Given the description of an element on the screen output the (x, y) to click on. 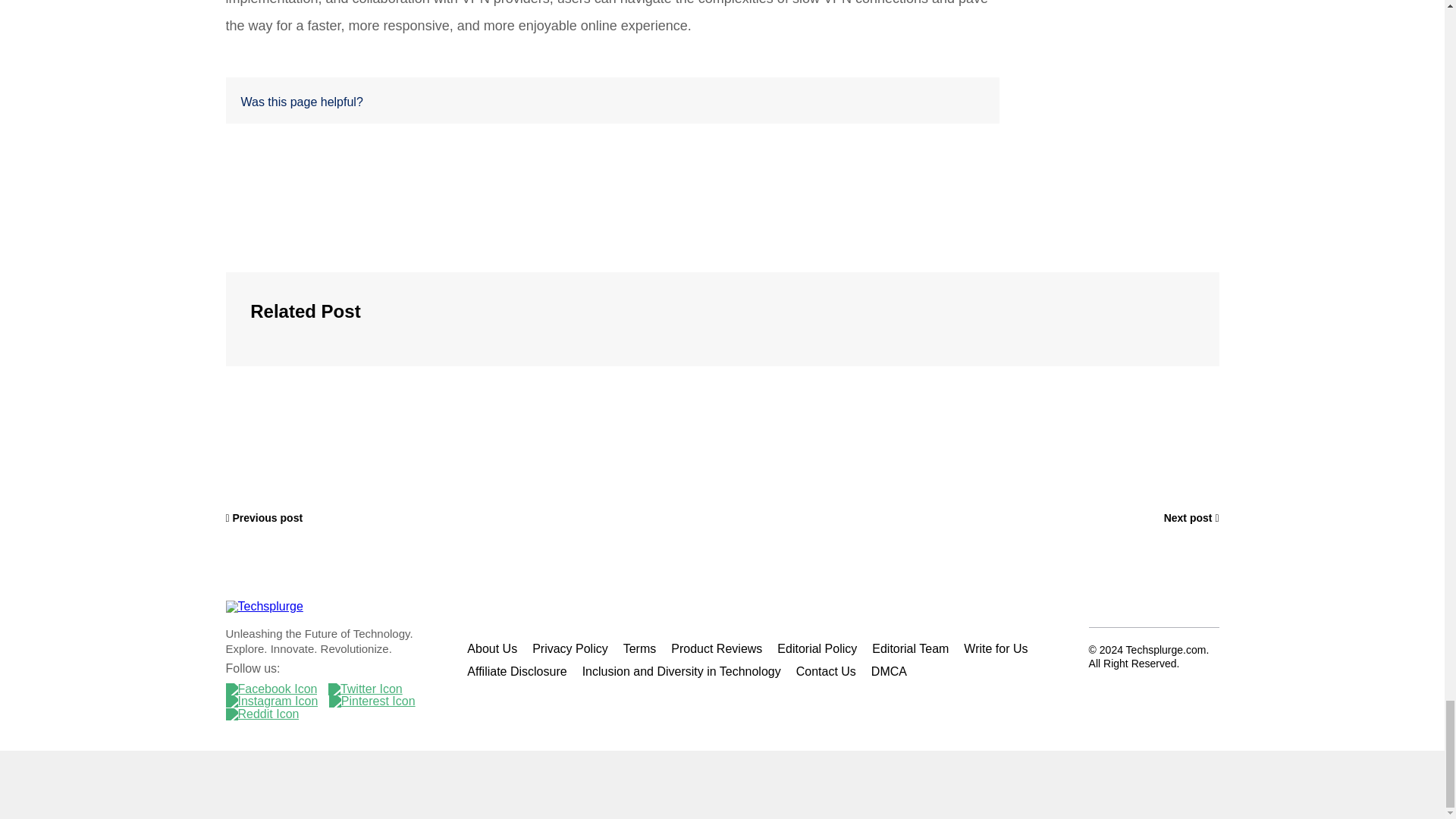
Techsplurge (263, 606)
